Given the description of an element on the screen output the (x, y) to click on. 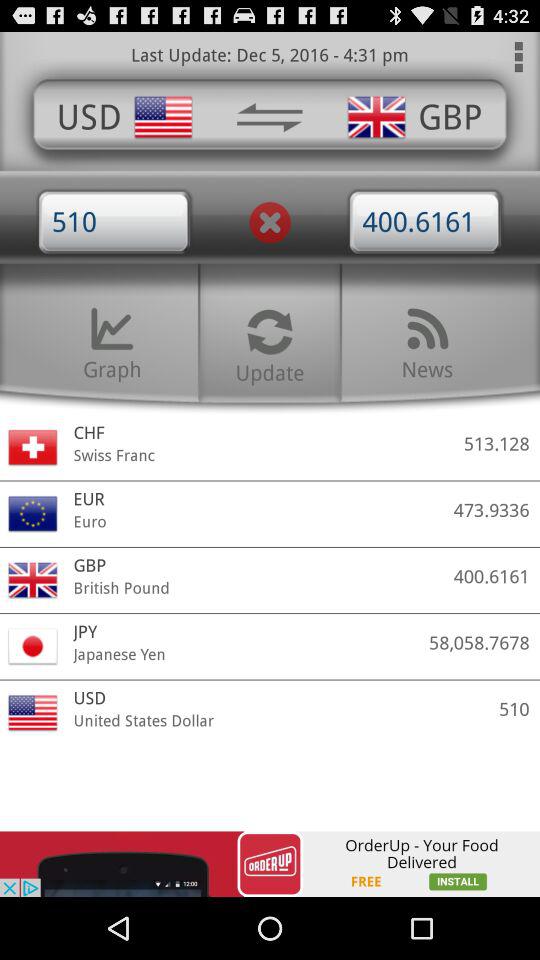
reverse translation (269, 117)
